Given the description of an element on the screen output the (x, y) to click on. 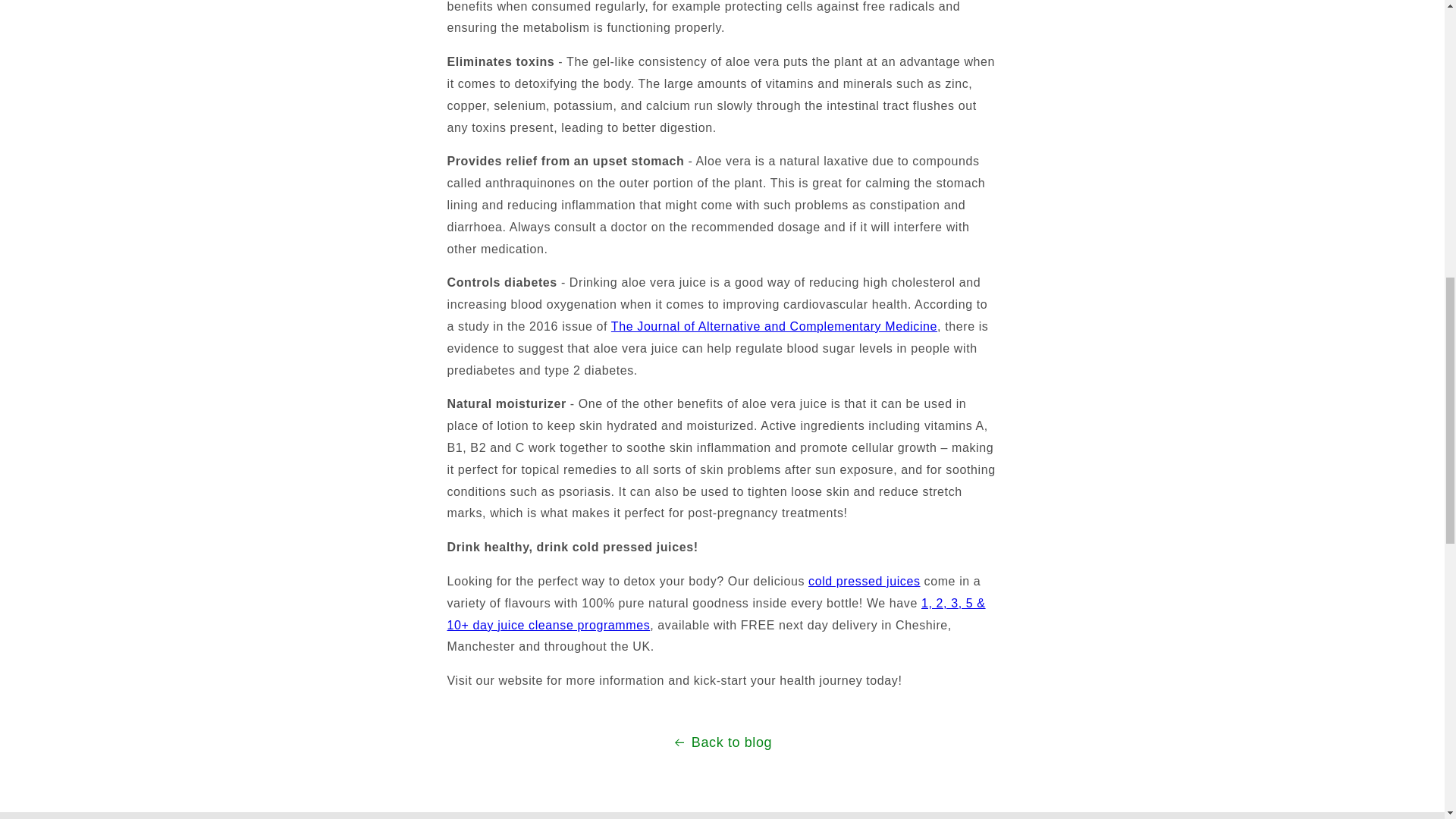
The Journal of Alternative and Complementary Medicine (774, 326)
cold pressed juices (864, 581)
